Given the description of an element on the screen output the (x, y) to click on. 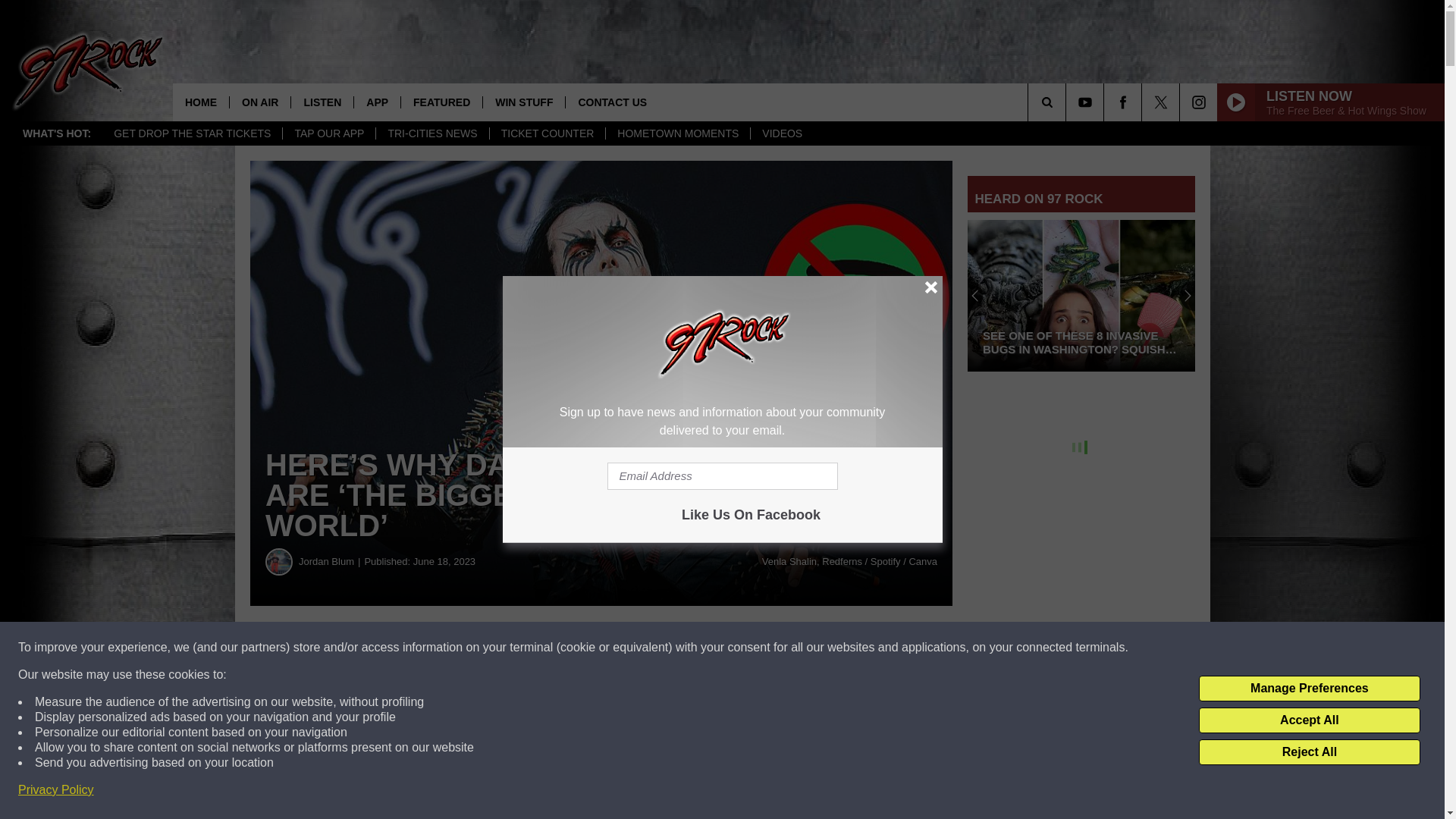
TWEET (741, 647)
WHAT'S HOT: (56, 133)
Manage Preferences (1309, 688)
HOMETOWN MOMENTS (677, 133)
APP (376, 102)
Accept All (1309, 720)
ON AIR (258, 102)
TICKET COUNTER (547, 133)
Privacy Policy (55, 789)
FEATURED (440, 102)
Email Address (722, 475)
GET DROP THE STAR TICKETS (191, 133)
SEARCH (1068, 102)
LISTEN (321, 102)
HOME (200, 102)
